Given the description of an element on the screen output the (x, y) to click on. 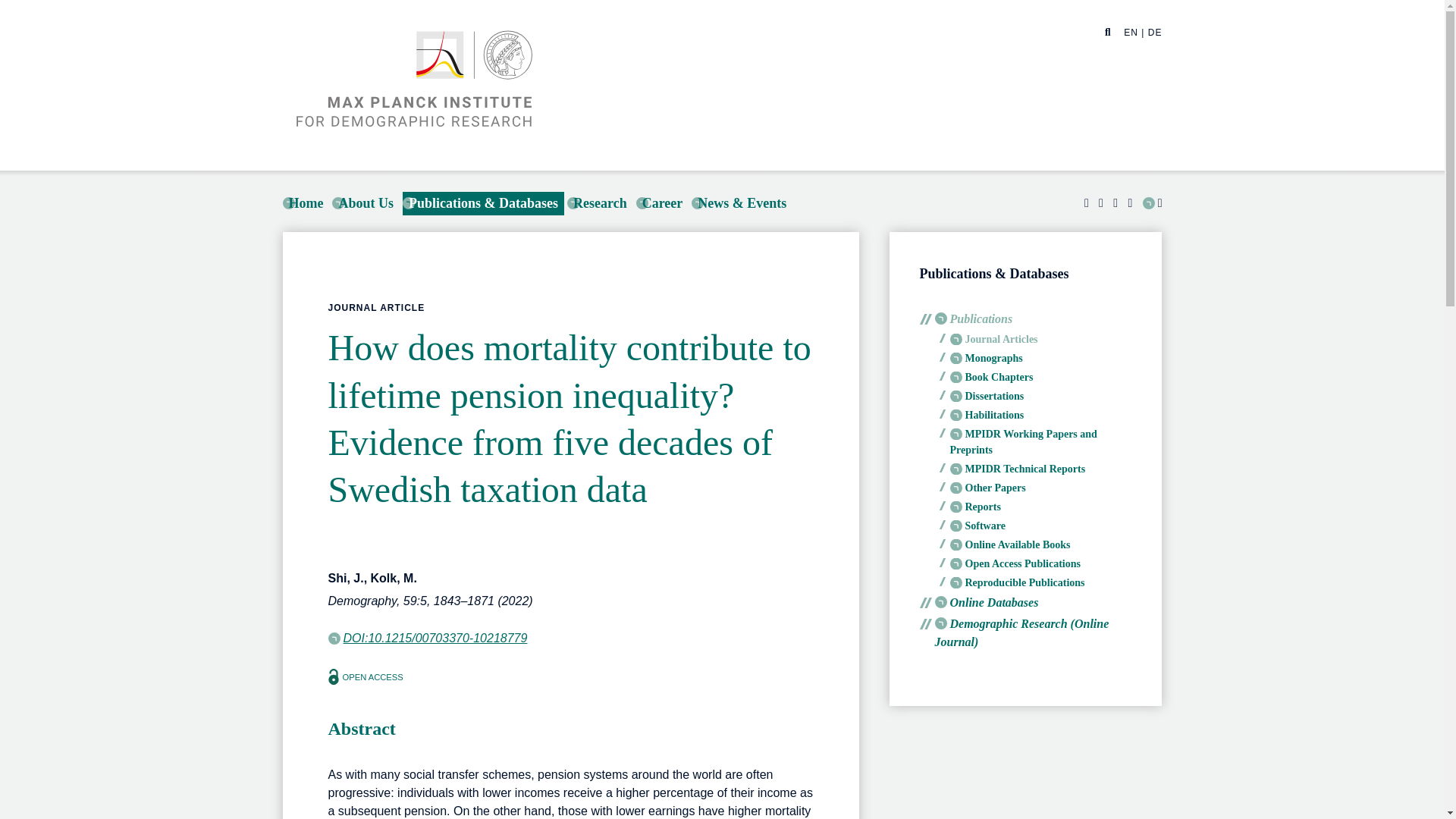
Home (305, 203)
DE (1154, 32)
RSS Feed (1151, 202)
About Us (364, 203)
